Given the description of an element on the screen output the (x, y) to click on. 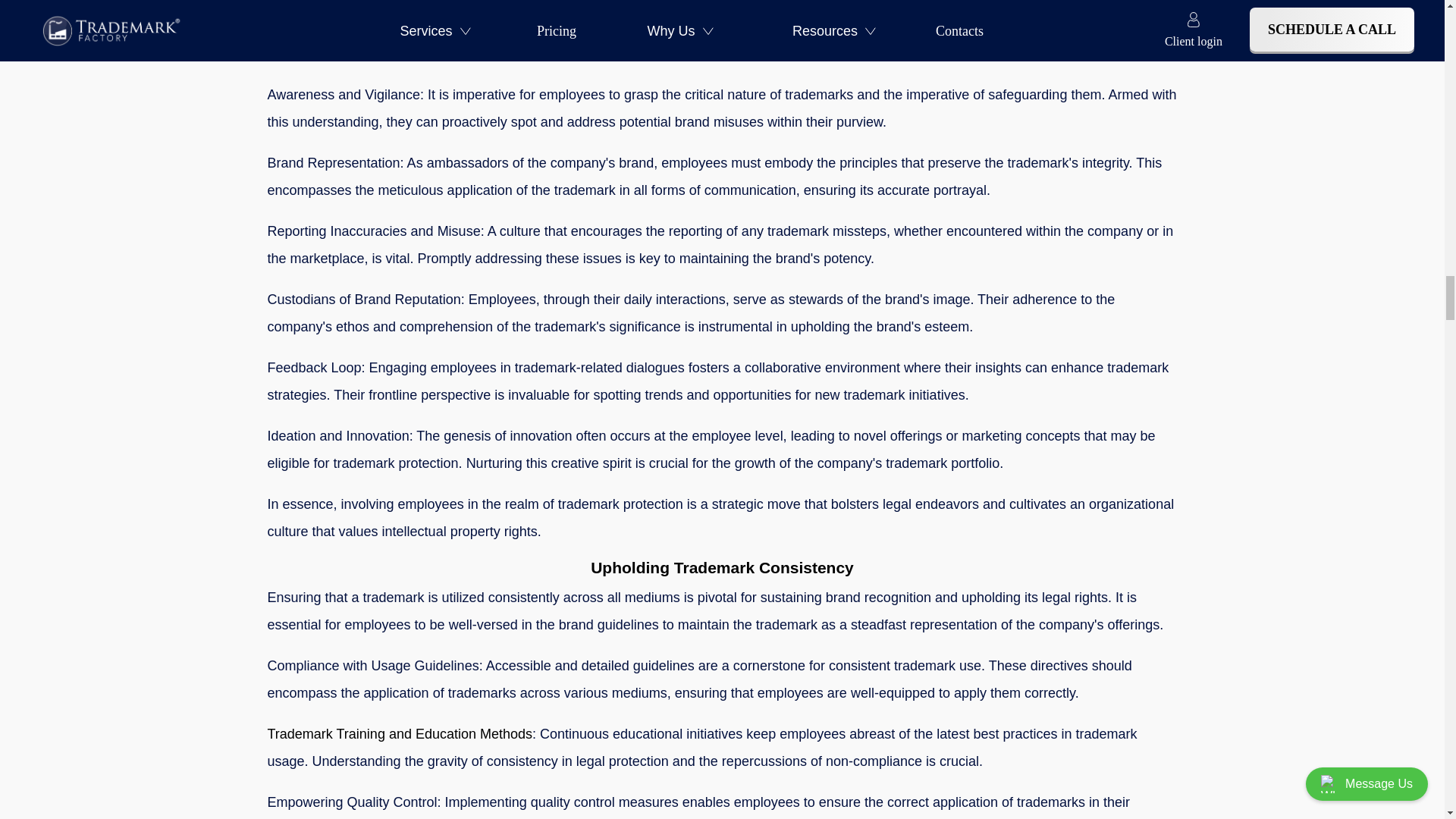
Trademark Training and Education Methods (399, 734)
